Given the description of an element on the screen output the (x, y) to click on. 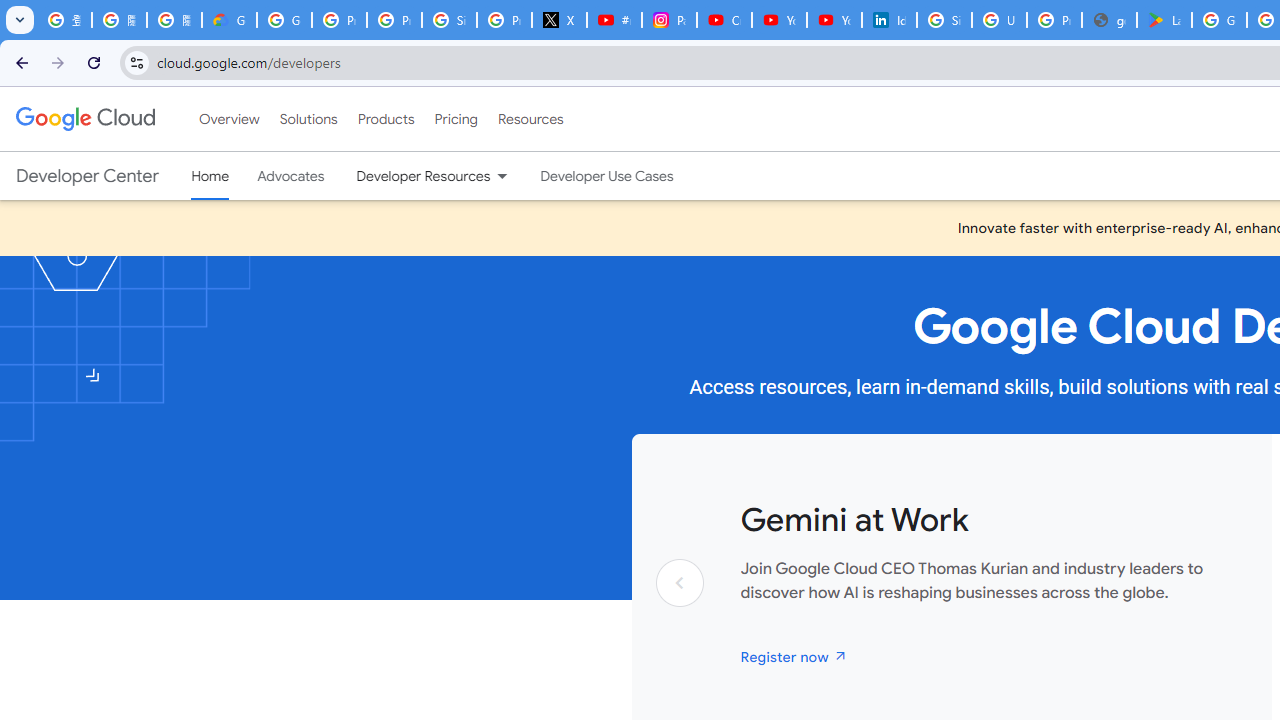
Google Cloud Privacy Notice (229, 20)
YouTube Culture & Trends - YouTube Top 10, 2021 (833, 20)
Home, selected (210, 175)
google_privacy_policy_en.pdf (1108, 20)
Developer Use Cases (607, 175)
